Given the description of an element on the screen output the (x, y) to click on. 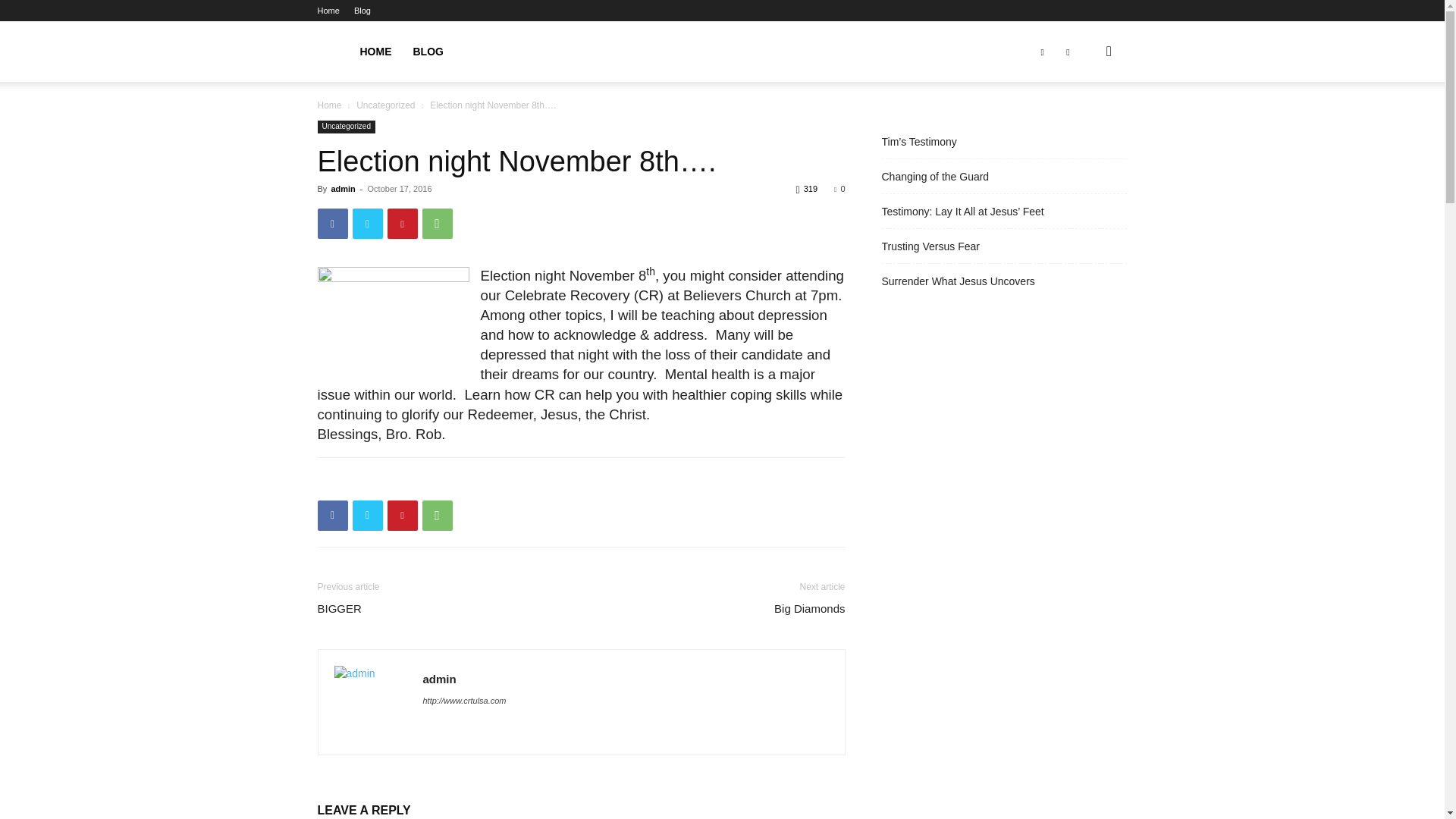
WhatsApp (436, 515)
admin (342, 188)
Uncategorized (385, 104)
BIGGER (347, 608)
Search (1085, 124)
Pinterest (401, 515)
Twitter (366, 223)
Facebook (332, 515)
Blog (362, 10)
Twitter (366, 515)
Big Diamonds (809, 608)
View all posts in Uncategorized (385, 104)
WhatsApp (436, 223)
Home (328, 10)
Uncategorized (345, 126)
